Given the description of an element on the screen output the (x, y) to click on. 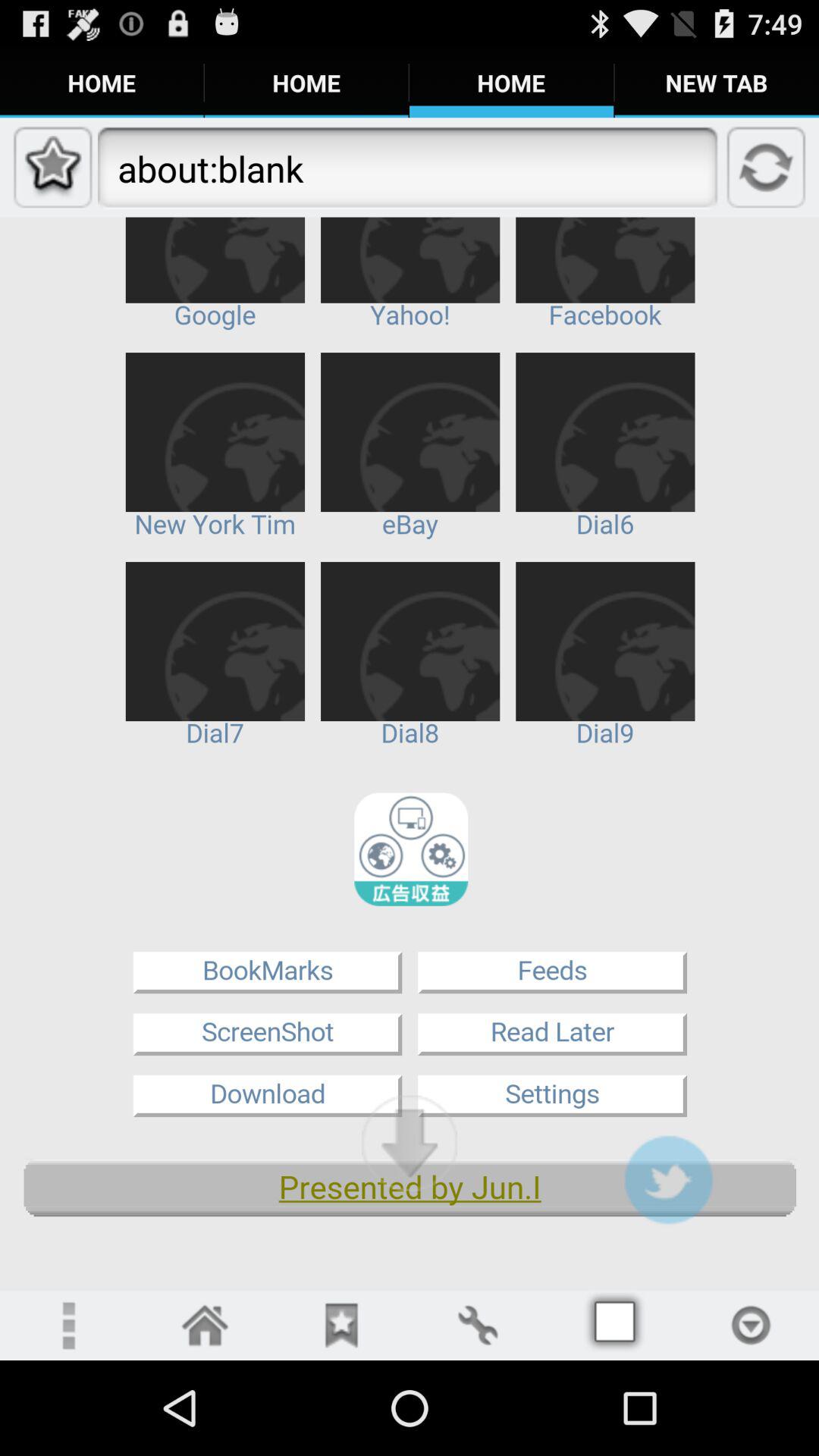
download item (409, 1142)
